Given the description of an element on the screen output the (x, y) to click on. 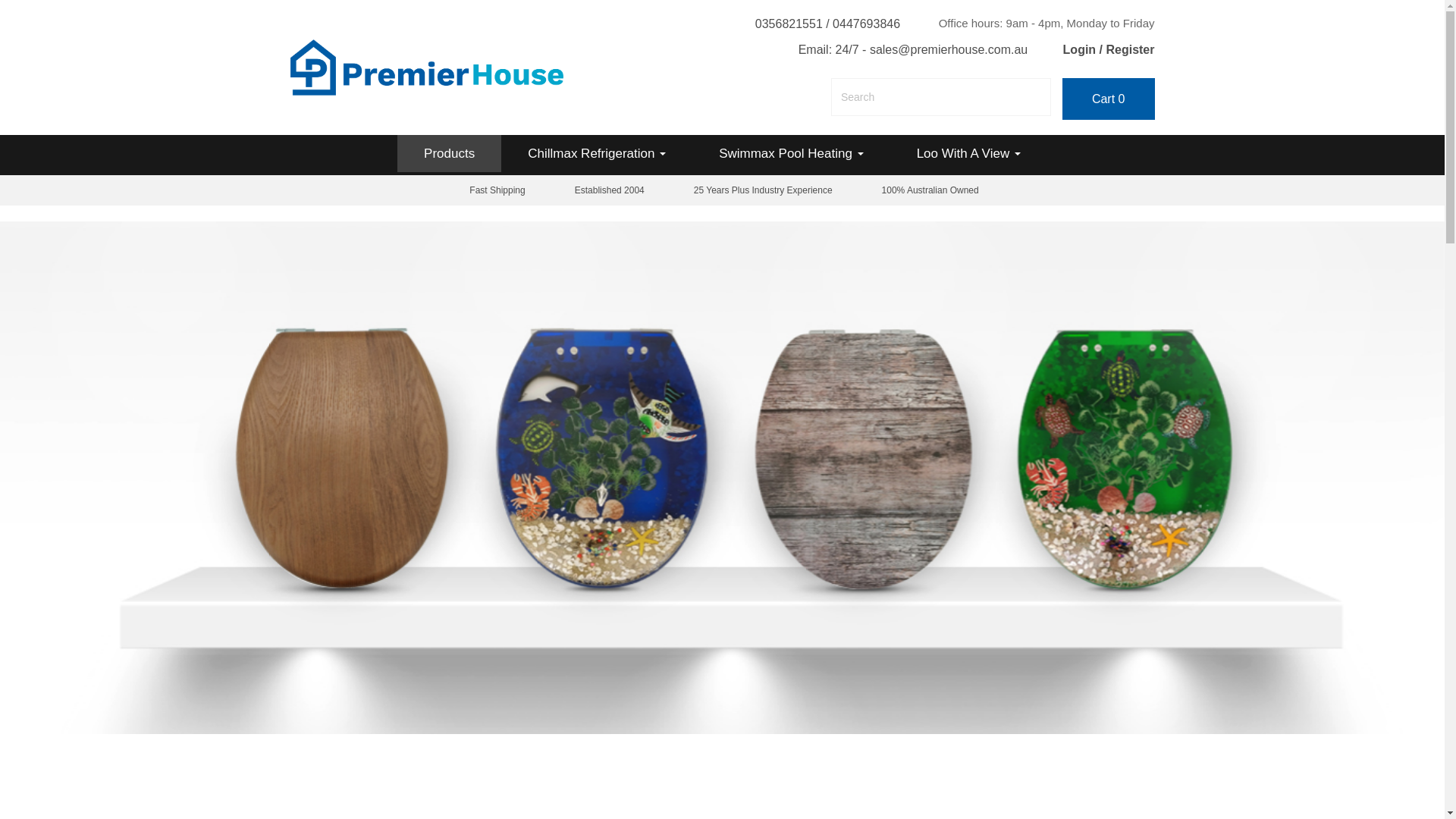
Cart 0 Element type: text (1108, 98)
Chillmax Refrigeration Element type: text (596, 153)
Search Element type: text (1039, 97)
Established 2004 Element type: text (607, 190)
Swimmax Pool Heating Element type: text (790, 153)
Fast Shipping Element type: text (494, 190)
100% Australian Owned Element type: text (928, 190)
Email: 24/7 - sales@premierhouse.com.au Element type: text (913, 49)
Loo With A View Element type: text (968, 153)
premier-house Element type: hover (425, 65)
0356821551 / 0447693846 Element type: text (827, 23)
Products Element type: text (449, 153)
25 Years Plus Industry Experience Element type: text (761, 190)
Login / Register Element type: text (1108, 49)
